Given the description of an element on the screen output the (x, y) to click on. 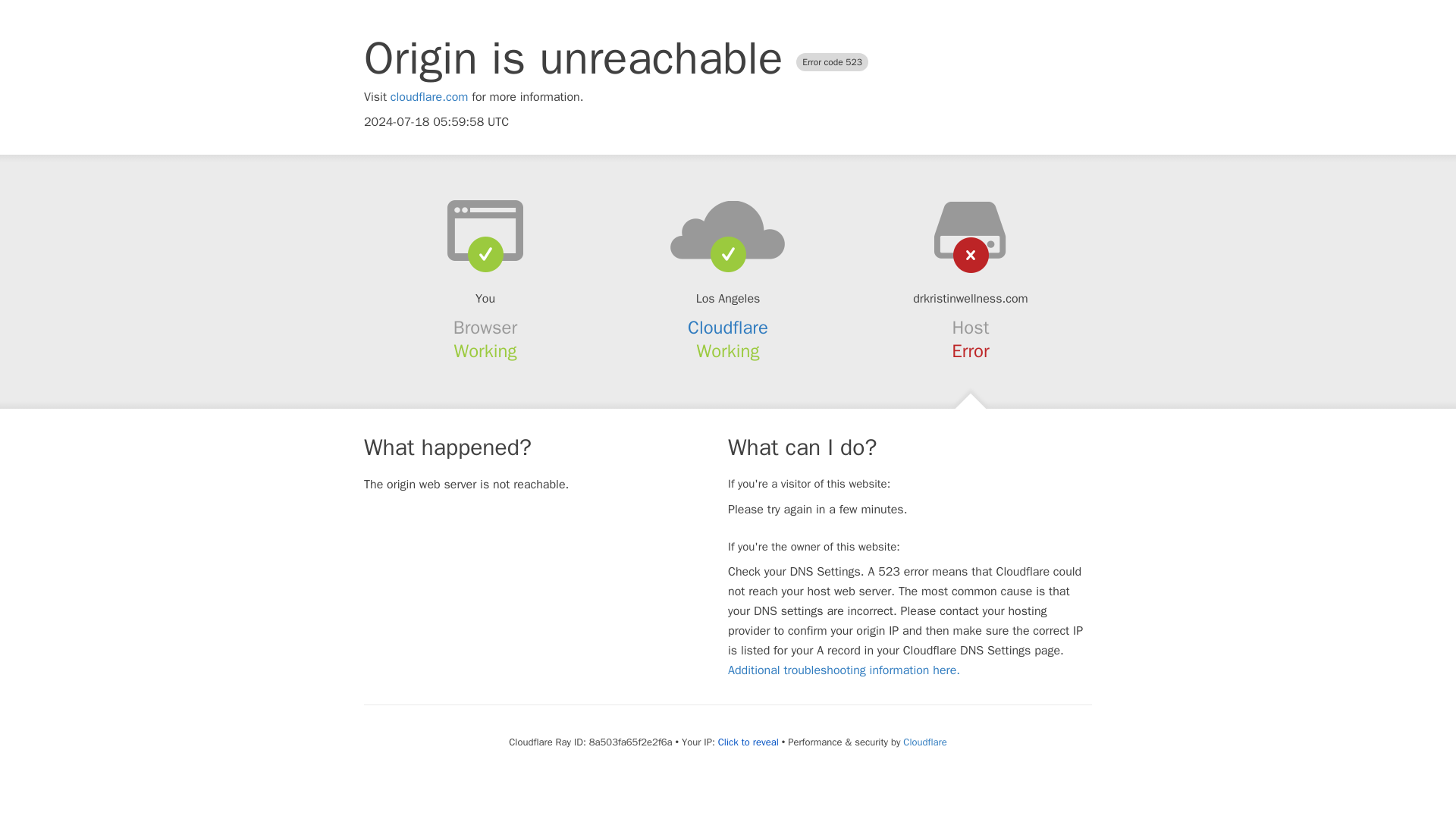
Cloudflare (727, 327)
Click to reveal (747, 742)
Cloudflare (924, 741)
Additional troubleshooting information here. (843, 670)
cloudflare.com (429, 96)
